Given the description of an element on the screen output the (x, y) to click on. 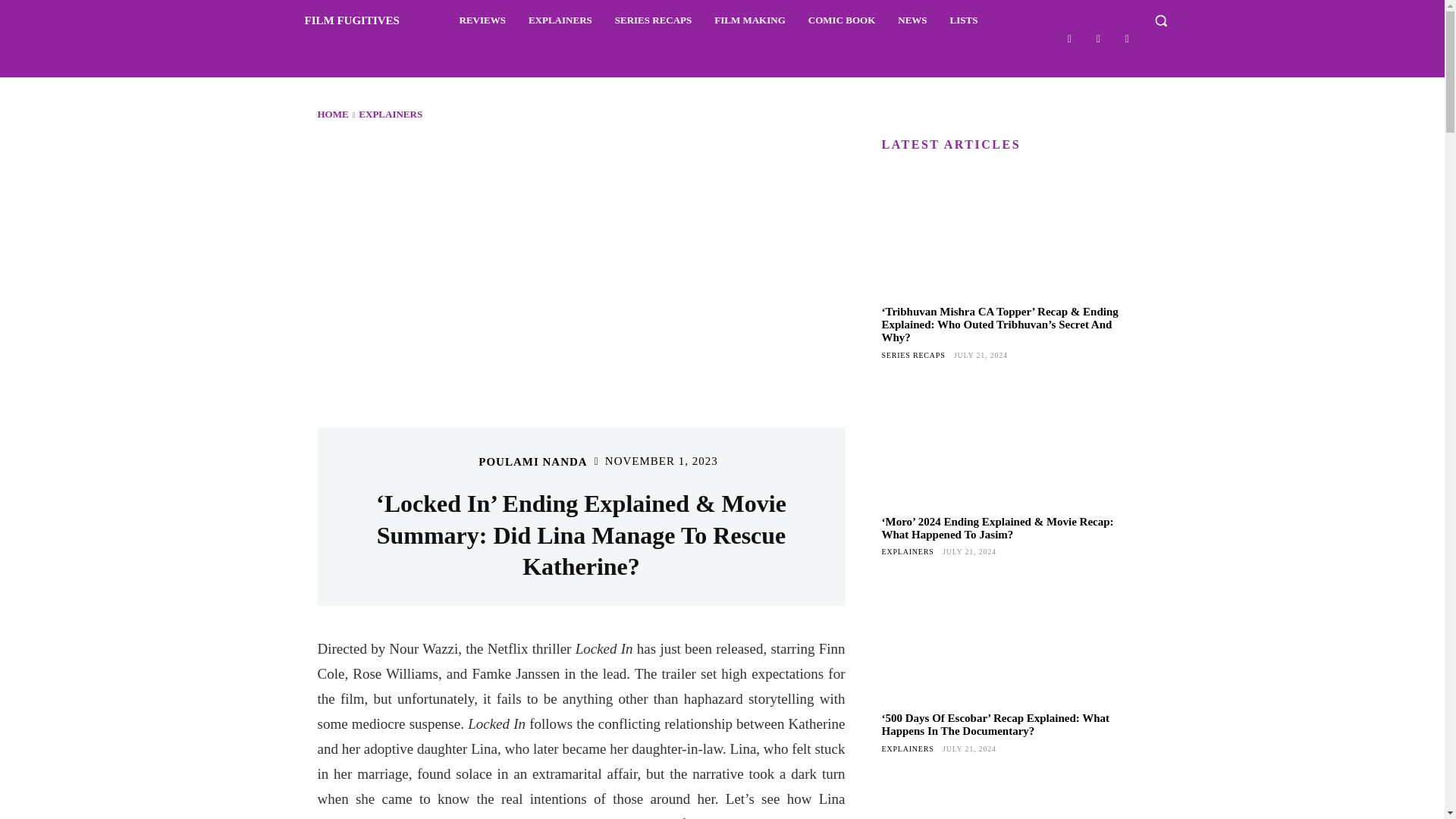
SERIES RECAPS (653, 20)
HOME (332, 113)
COMIC BOOK (841, 20)
POULAMI NANDA (532, 461)
NEWS (911, 20)
Film Fugitives (333, 20)
LISTS (963, 20)
REVIEWS (482, 20)
EXPLAINERS (560, 20)
FILM MAKING (749, 20)
FILM FUGITIVES (333, 20)
EXPLAINERS (390, 113)
Facebook (1069, 38)
